Given the description of an element on the screen output the (x, y) to click on. 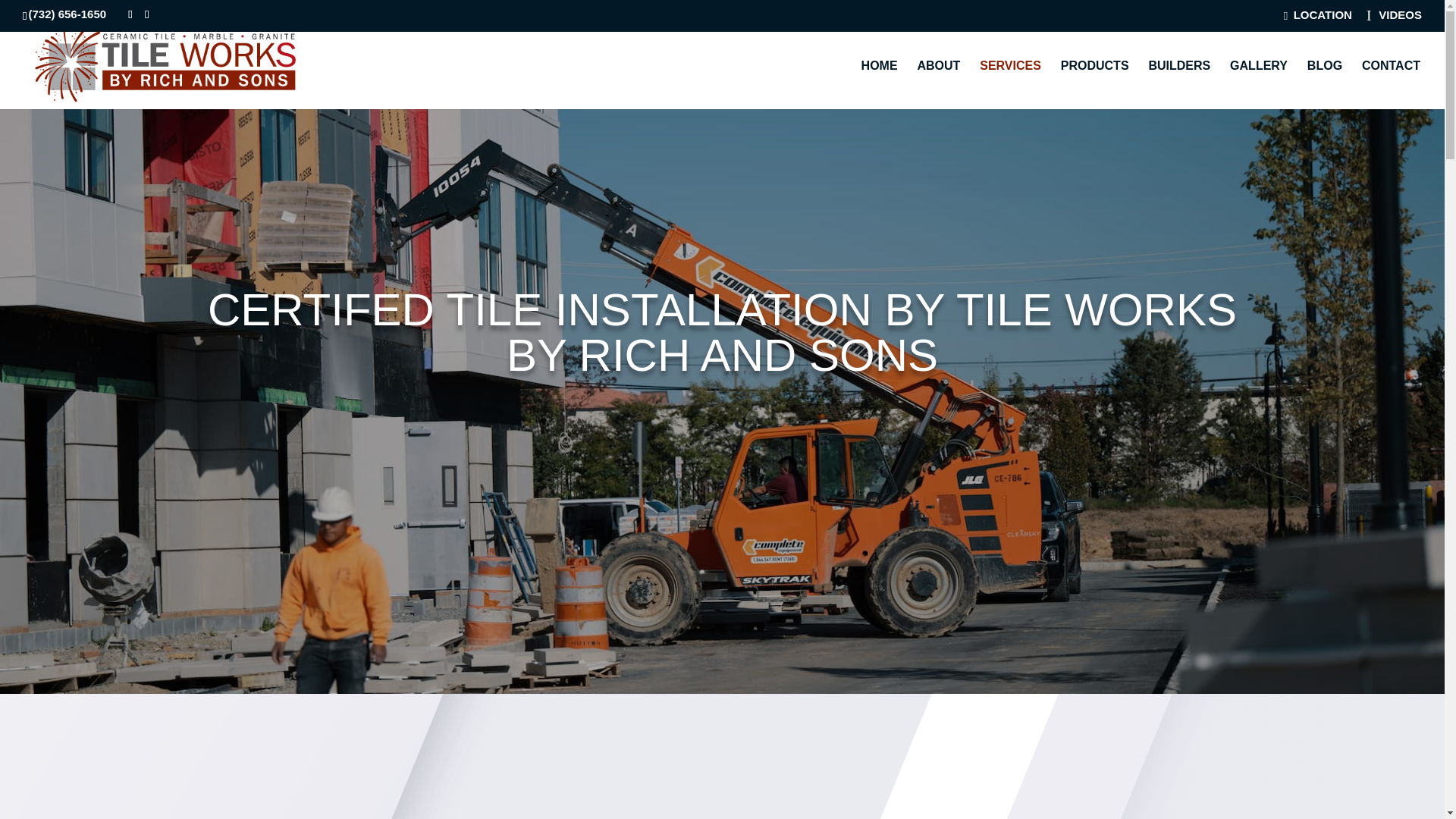
ABOUT (938, 84)
LOCATION (1318, 19)
PRODUCTS (1095, 84)
BUILDERS (1178, 84)
GALLERY (1258, 84)
VIDEOS (1394, 19)
SERVICES (1010, 84)
CONTACT (1391, 84)
